Given the description of an element on the screen output the (x, y) to click on. 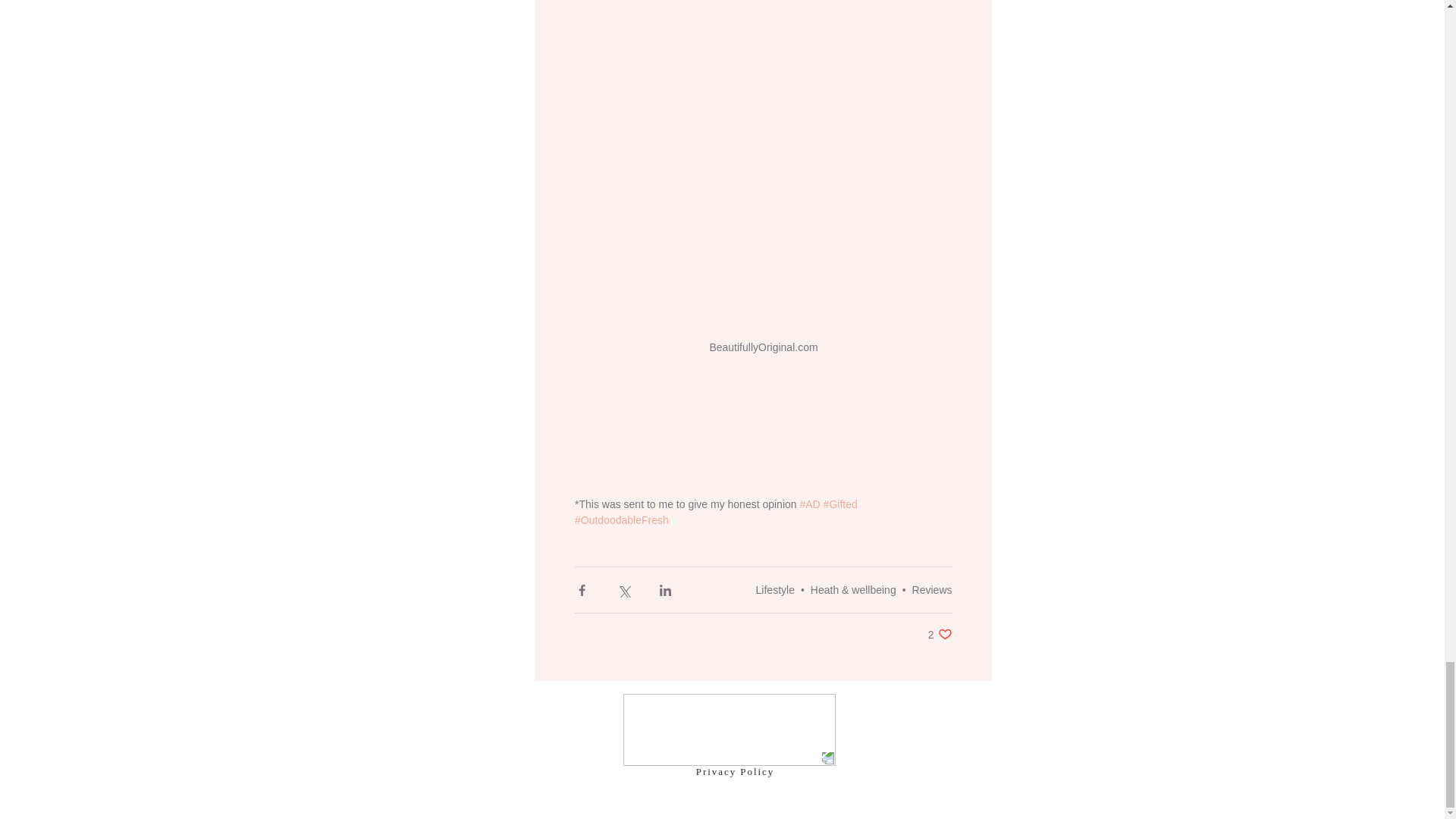
BeautifullyOriginal.com (940, 634)
Privacy Policy (932, 589)
Lifestyle (734, 771)
